Given the description of an element on the screen output the (x, y) to click on. 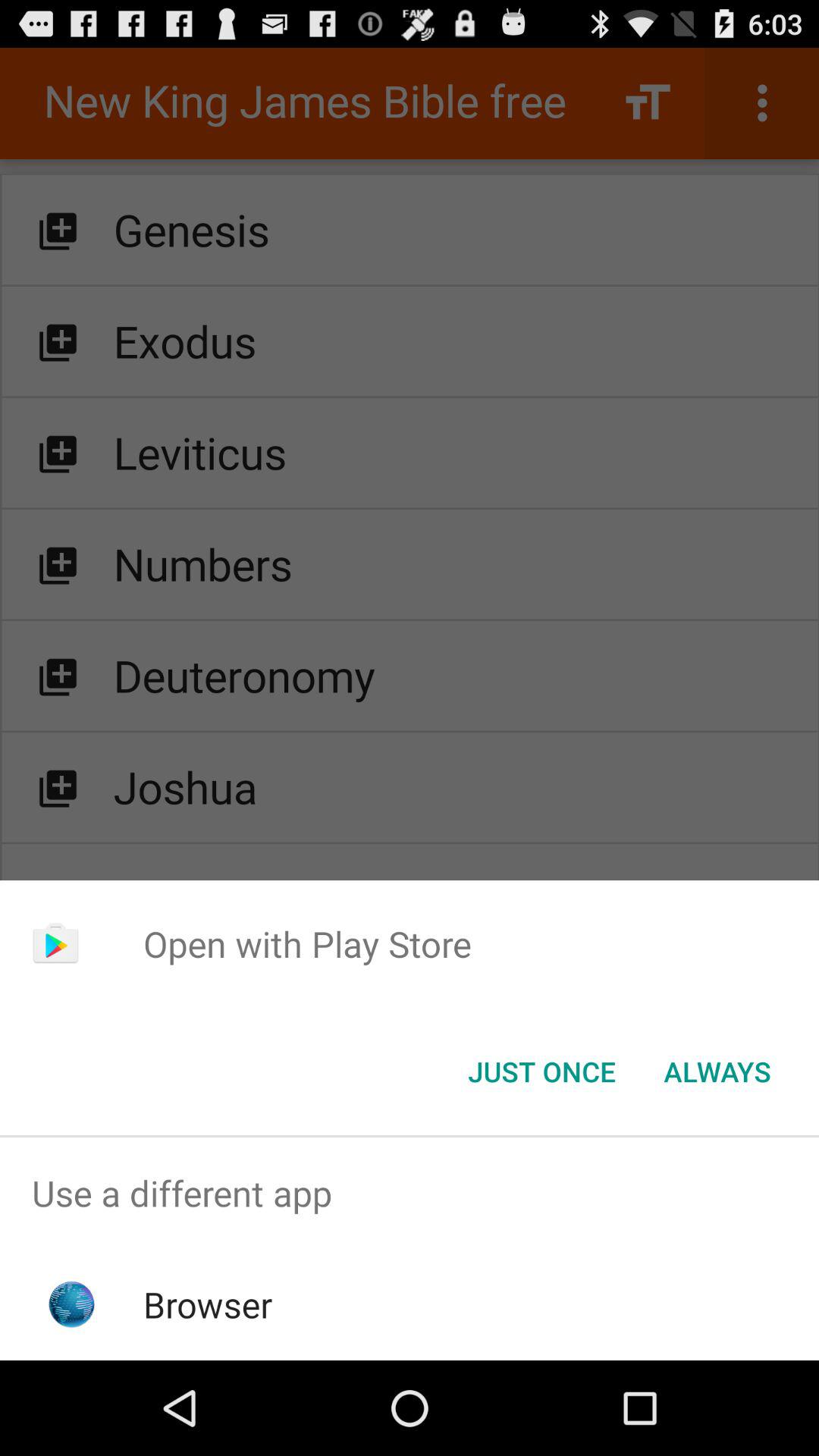
scroll until just once item (541, 1071)
